Given the description of an element on the screen output the (x, y) to click on. 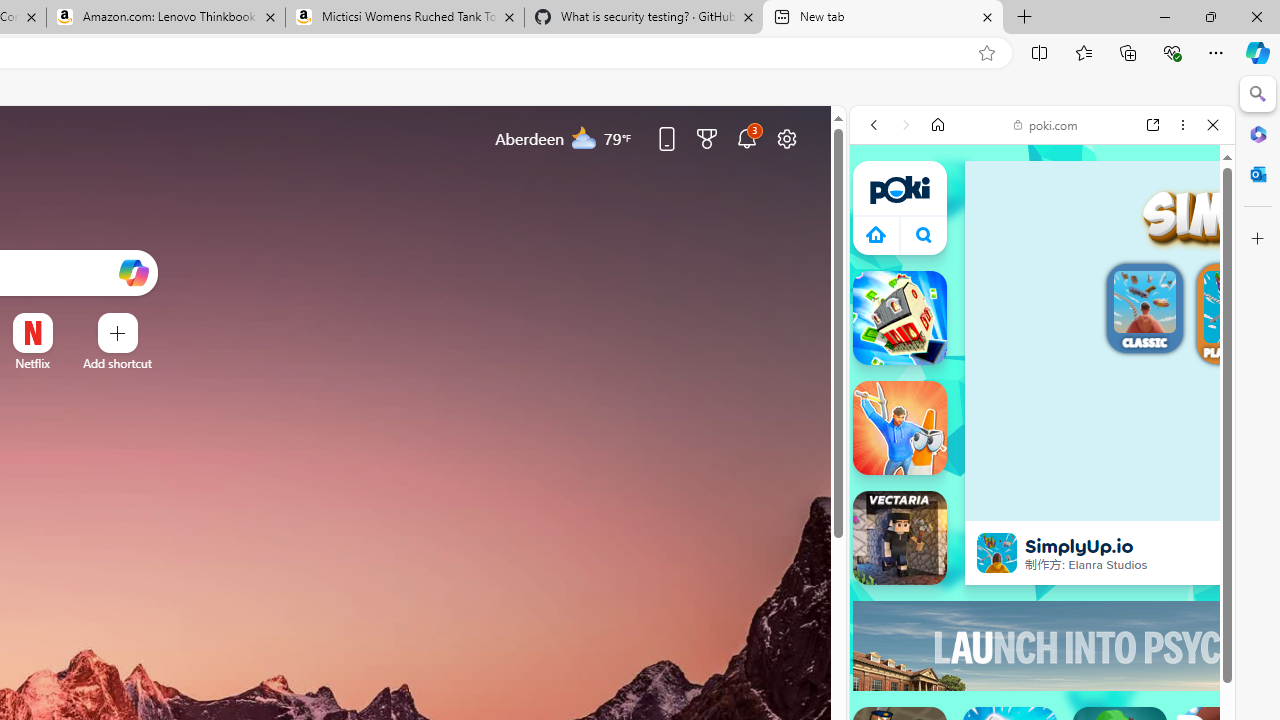
Sports Games (1042, 700)
Two Player Games (1042, 601)
Vectaria.io Vectaria.io (899, 537)
Class: aprWdaSScyiJf4Jvmsx9 (875, 234)
PLAYGROUND (1240, 317)
Stack City (899, 317)
___ (879, 611)
